Given the description of an element on the screen output the (x, y) to click on. 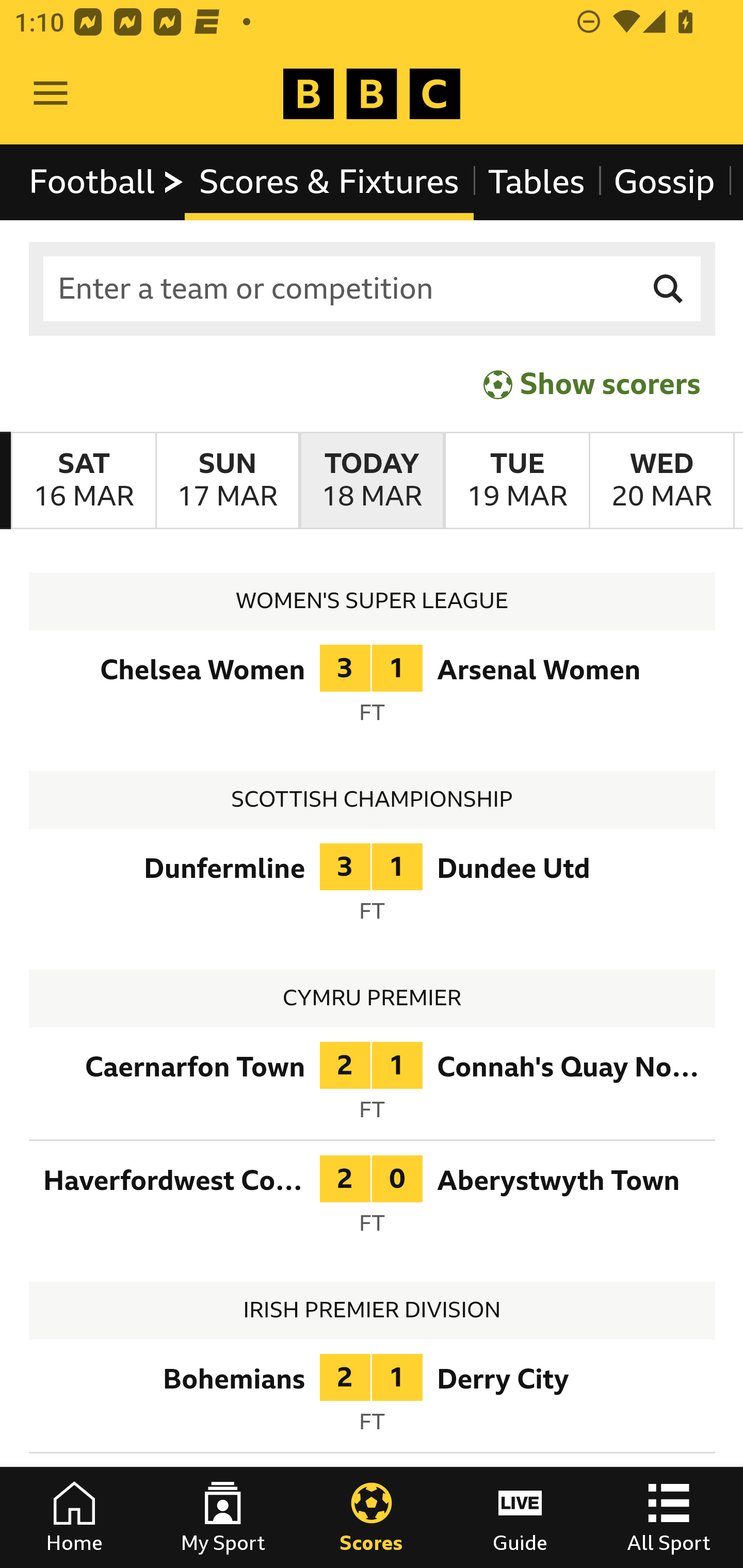
Open Menu (50, 93)
Football  (106, 181)
Scores & Fixtures (329, 181)
Tables (536, 181)
Gossip (664, 181)
Search (669, 289)
Show scorers (591, 383)
SaturdayMarch 16th Saturday March 16th (83, 480)
SundayMarch 17th Sunday March 17th (227, 480)
TodayMarch 18th Today March 18th (371, 480)
TuesdayMarch 19th Tuesday March 19th (516, 480)
WednesdayMarch 20th Wednesday March 20th (661, 480)
68508406 Chelsea Women 3 Arsenal Women 1 Full Time (372, 689)
68474818 Dunfermline 3 Dundee United 1 Full Time (372, 888)
Home (74, 1517)
My Sport (222, 1517)
Guide (519, 1517)
All Sport (668, 1517)
